Given the description of an element on the screen output the (x, y) to click on. 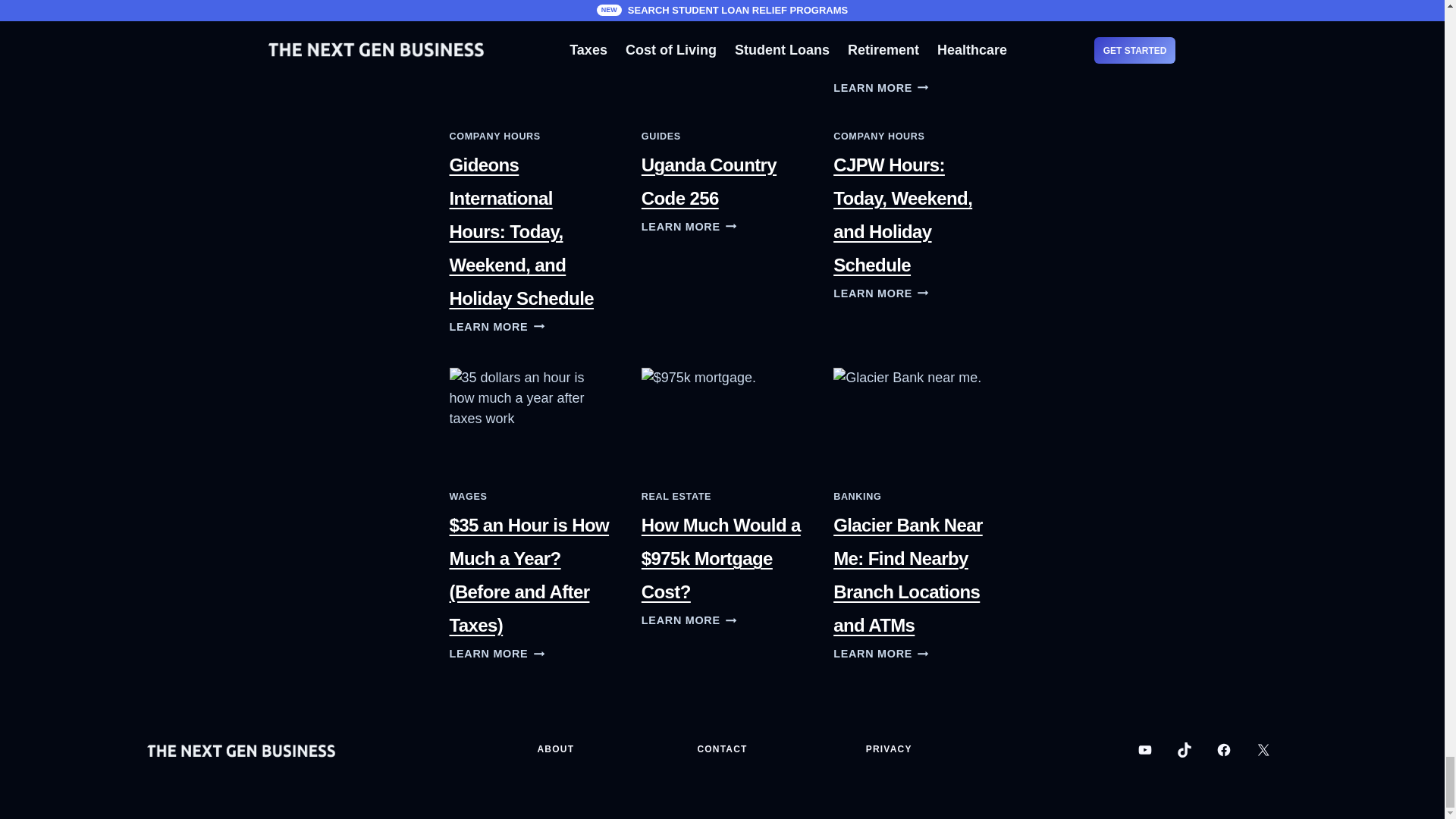
394 Credit Score: Is it Good or Bad? How to Improve it? (722, 18)
LEARN MORE (689, 54)
